Given the description of an element on the screen output the (x, y) to click on. 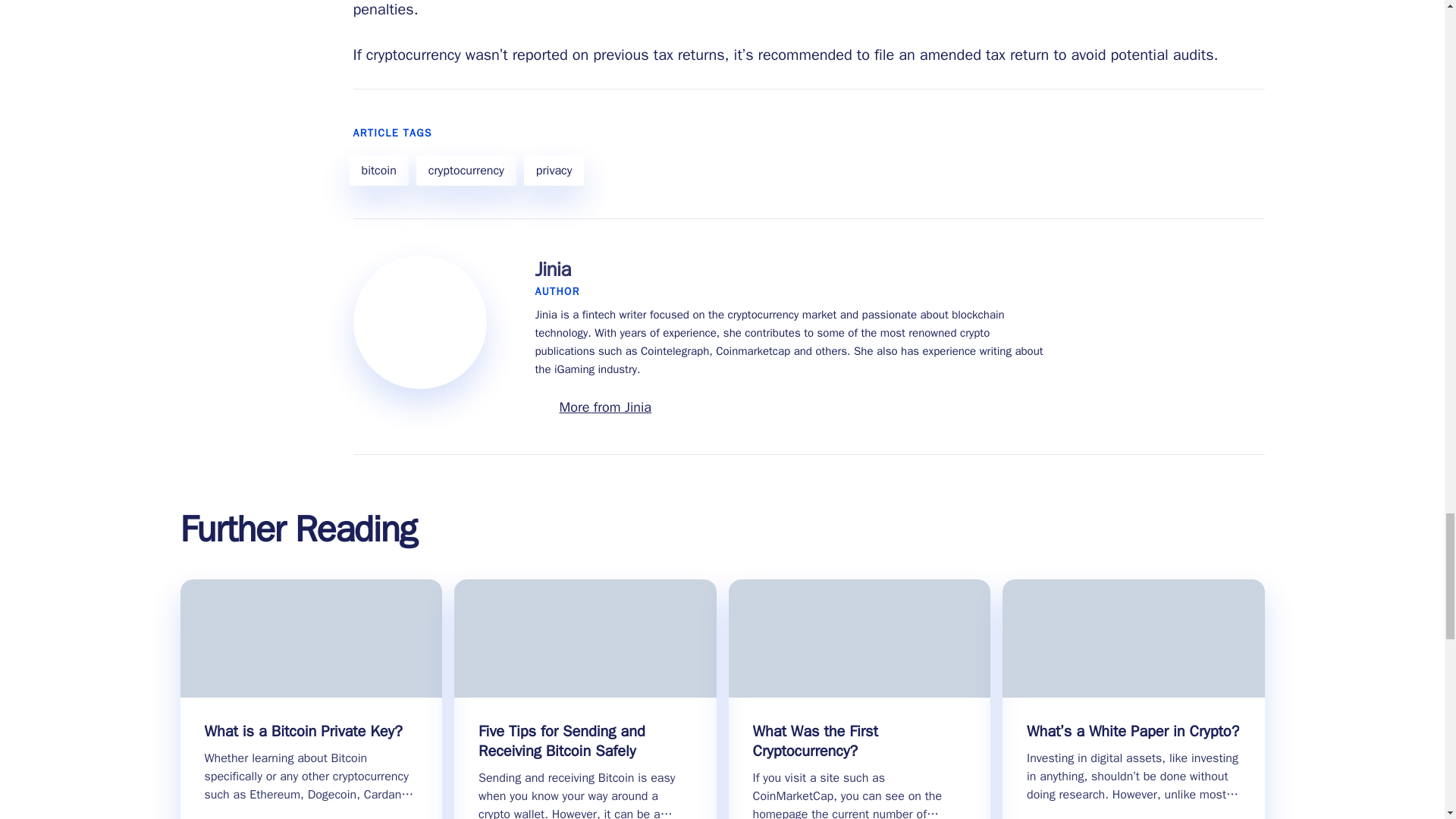
Five Tips for Sending and Receiving Bitcoin Safely (586, 741)
What Was the First Cryptocurrency? (859, 741)
Five Tips for Sending and Receiving Bitcoin Safely (586, 741)
More from Jinia (605, 406)
What is a Bitcoin Private Key? (304, 731)
What is a Bitcoin Private Key? (304, 731)
What Was the First Cryptocurrency? (859, 741)
